Given the description of an element on the screen output the (x, y) to click on. 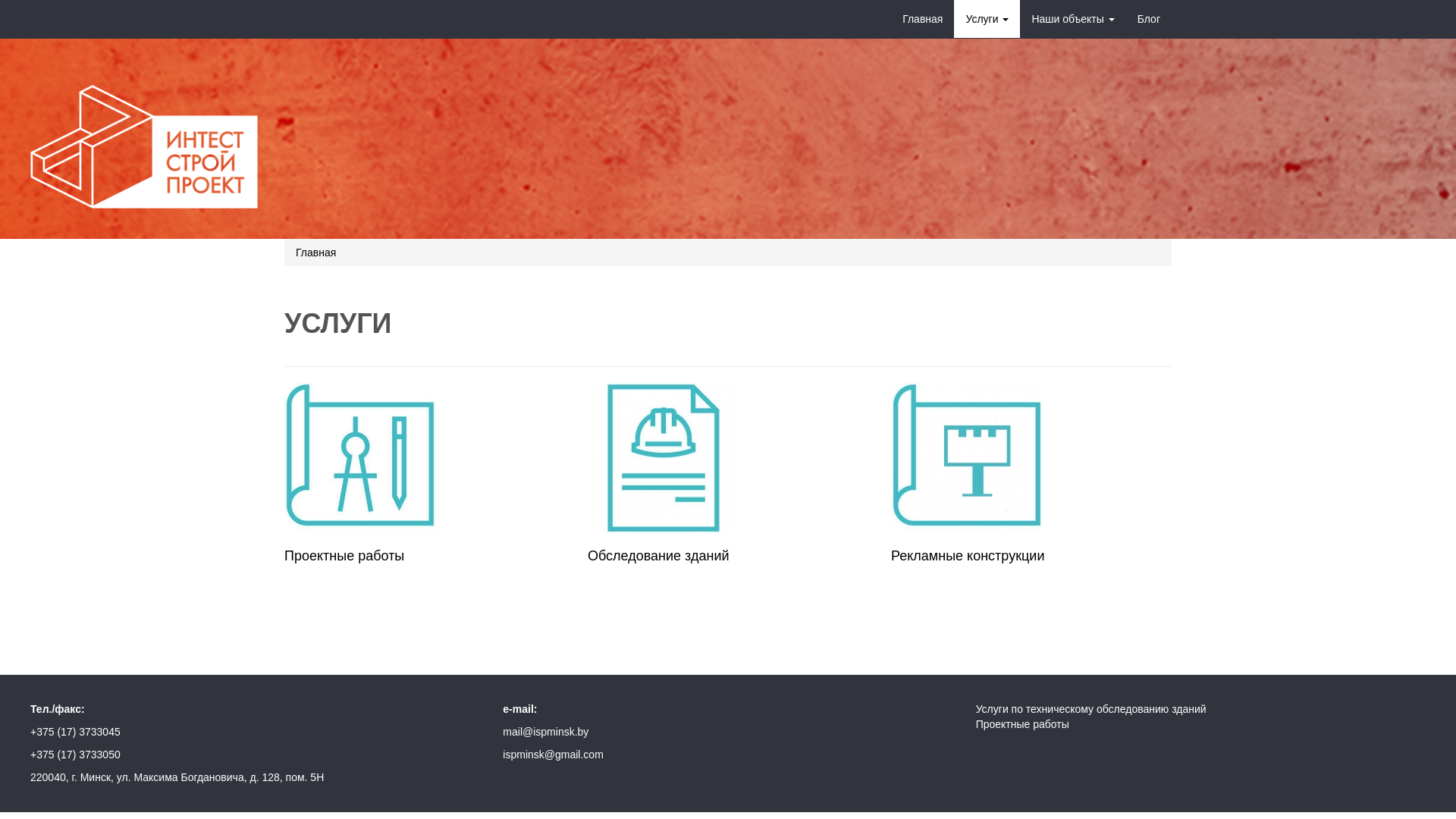
mail@ispminsk.by Element type: text (545, 731)
ispminsk@gmail.com Element type: text (552, 754)
